Given the description of an element on the screen output the (x, y) to click on. 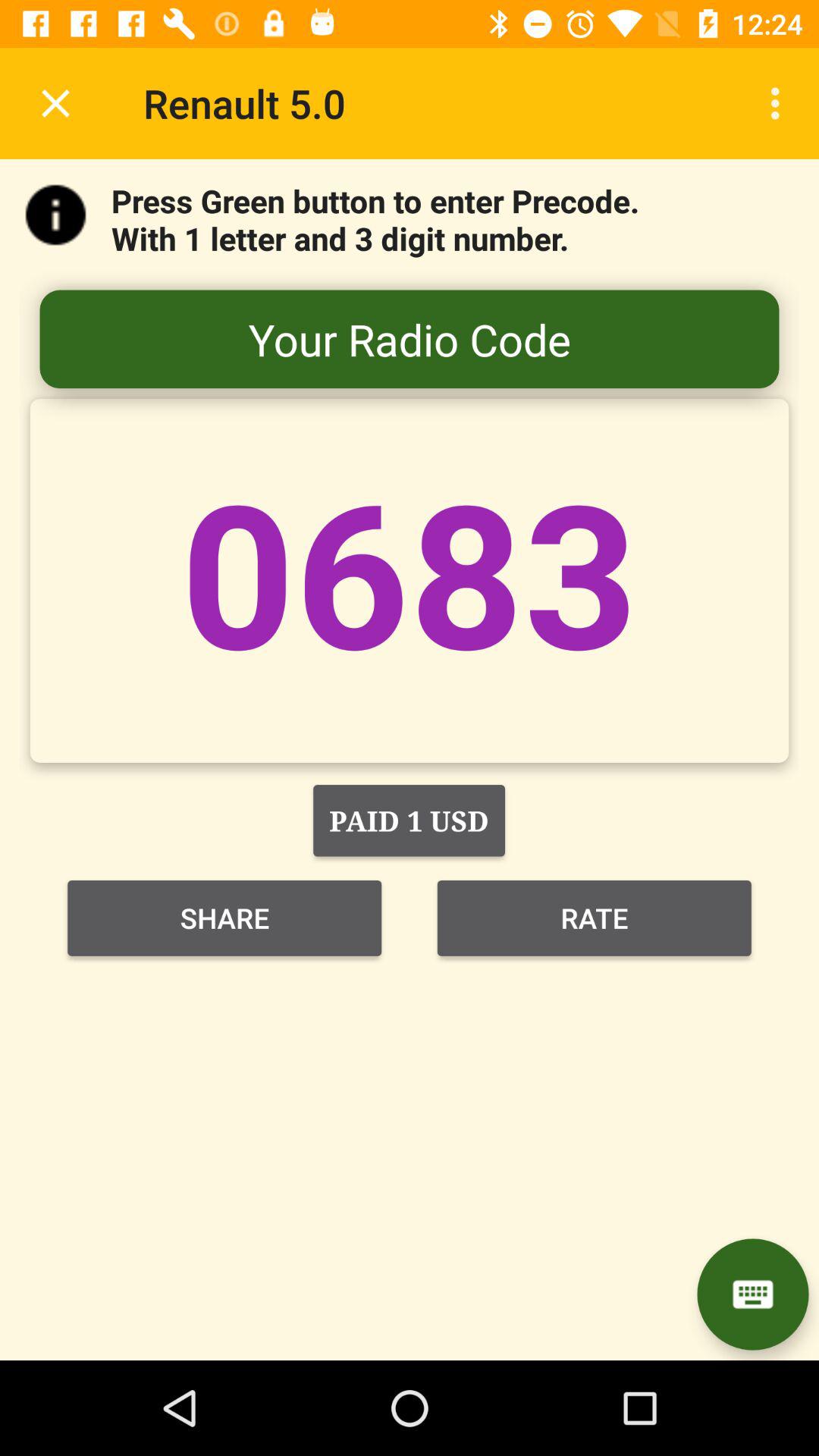
select the paid 1 usd (409, 820)
